Given the description of an element on the screen output the (x, y) to click on. 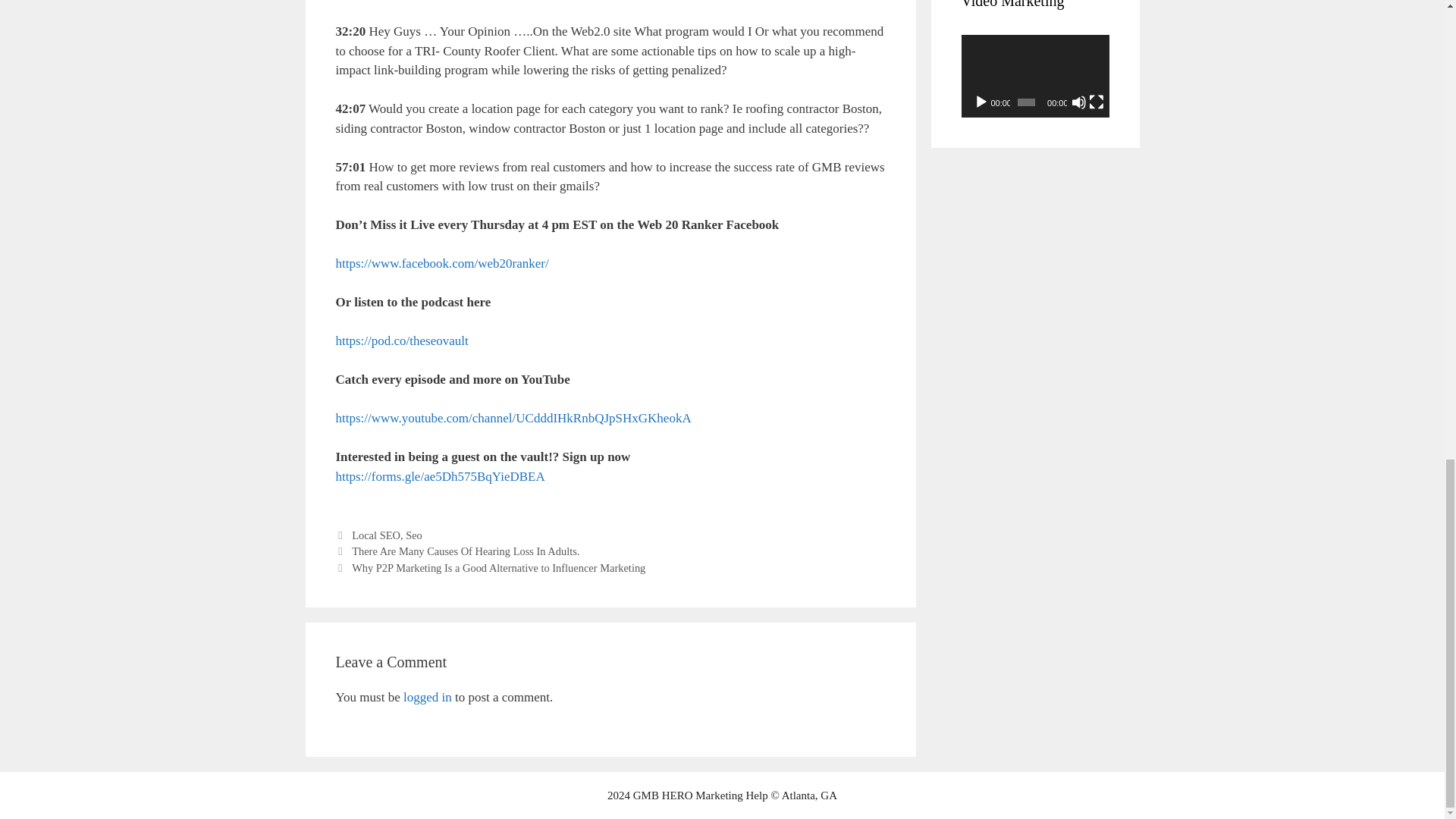
Play (981, 102)
Mute (1078, 102)
Fullscreen (1096, 102)
Seo (414, 535)
Local SEO (376, 535)
logged in (427, 697)
There Are Many Causes Of Hearing Loss In Adults. (465, 551)
